Given the description of an element on the screen output the (x, y) to click on. 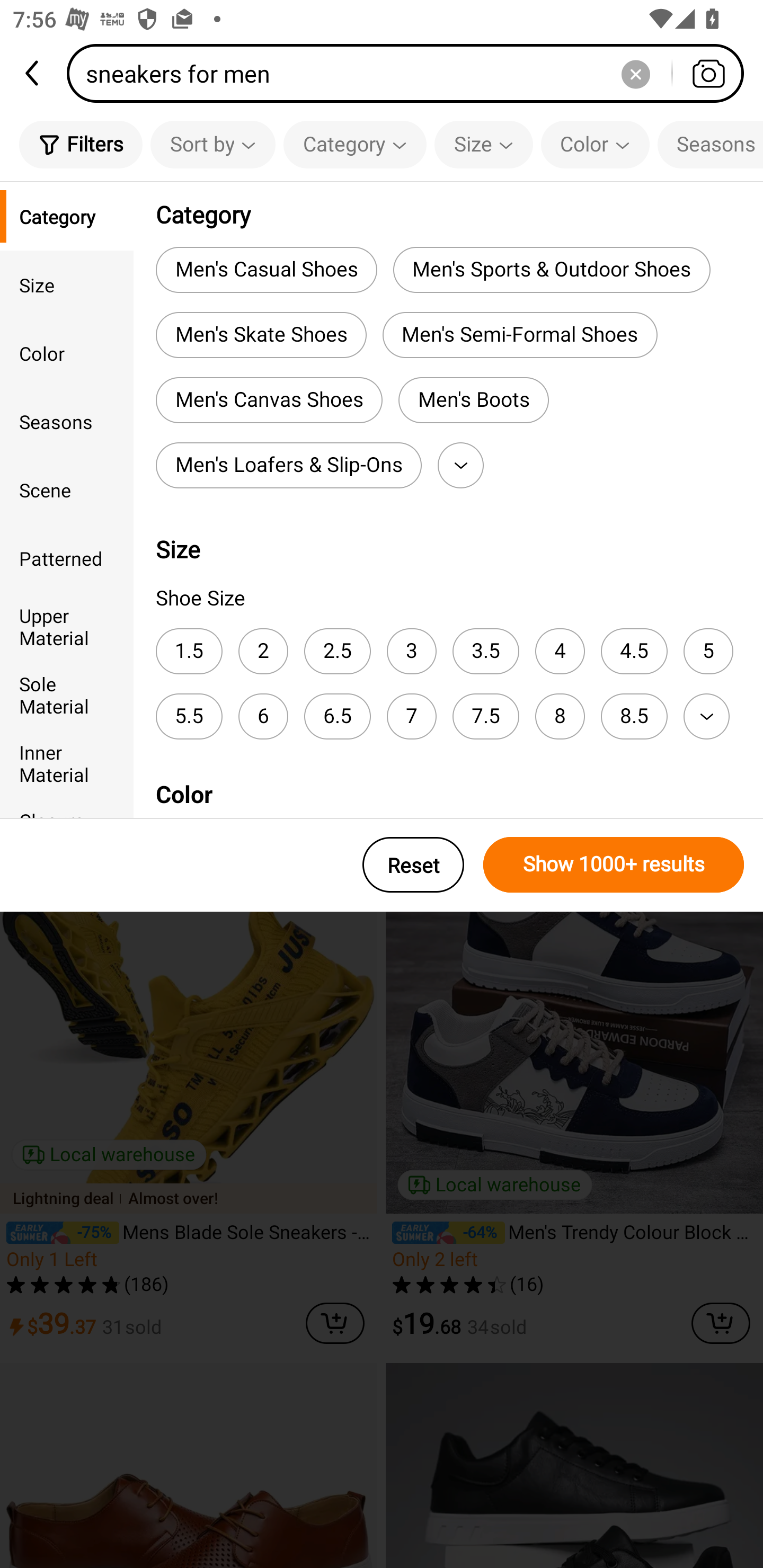
back (33, 72)
sneakers for men (411, 73)
Delete search history (635, 73)
Search by photo (708, 73)
Filters (80, 143)
Sort by (212, 143)
Category (354, 143)
Size (483, 143)
Color (594, 143)
Seasons (710, 143)
Category (66, 215)
Men's Casual Shoes (265, 269)
Men's Sports & Outdoor Shoes (551, 269)
Size (66, 284)
Men's Skate Shoes (261, 334)
Men's Semi-Formal Shoes (519, 334)
Color (66, 352)
Men's Canvas Shoes (268, 400)
Men's Boots (473, 400)
Seasons (66, 421)
Men's Loafers & Slip-Ons (288, 464)
More (460, 464)
Scene (66, 489)
Patterned (66, 557)
Upper Material (66, 626)
1.5 (188, 651)
2 (263, 651)
2.5 (337, 651)
3 (411, 651)
3.5 (485, 651)
4 (559, 651)
4.5 (634, 651)
5 (708, 651)
Sole Material (66, 694)
5.5 (188, 716)
6 (263, 716)
6.5 (337, 716)
7 (411, 716)
7.5 (485, 716)
8 (559, 716)
8.5 (634, 716)
More (706, 716)
Inner Material (66, 762)
Reset (412, 864)
Show 1000+ results (612, 864)
